Given the description of an element on the screen output the (x, y) to click on. 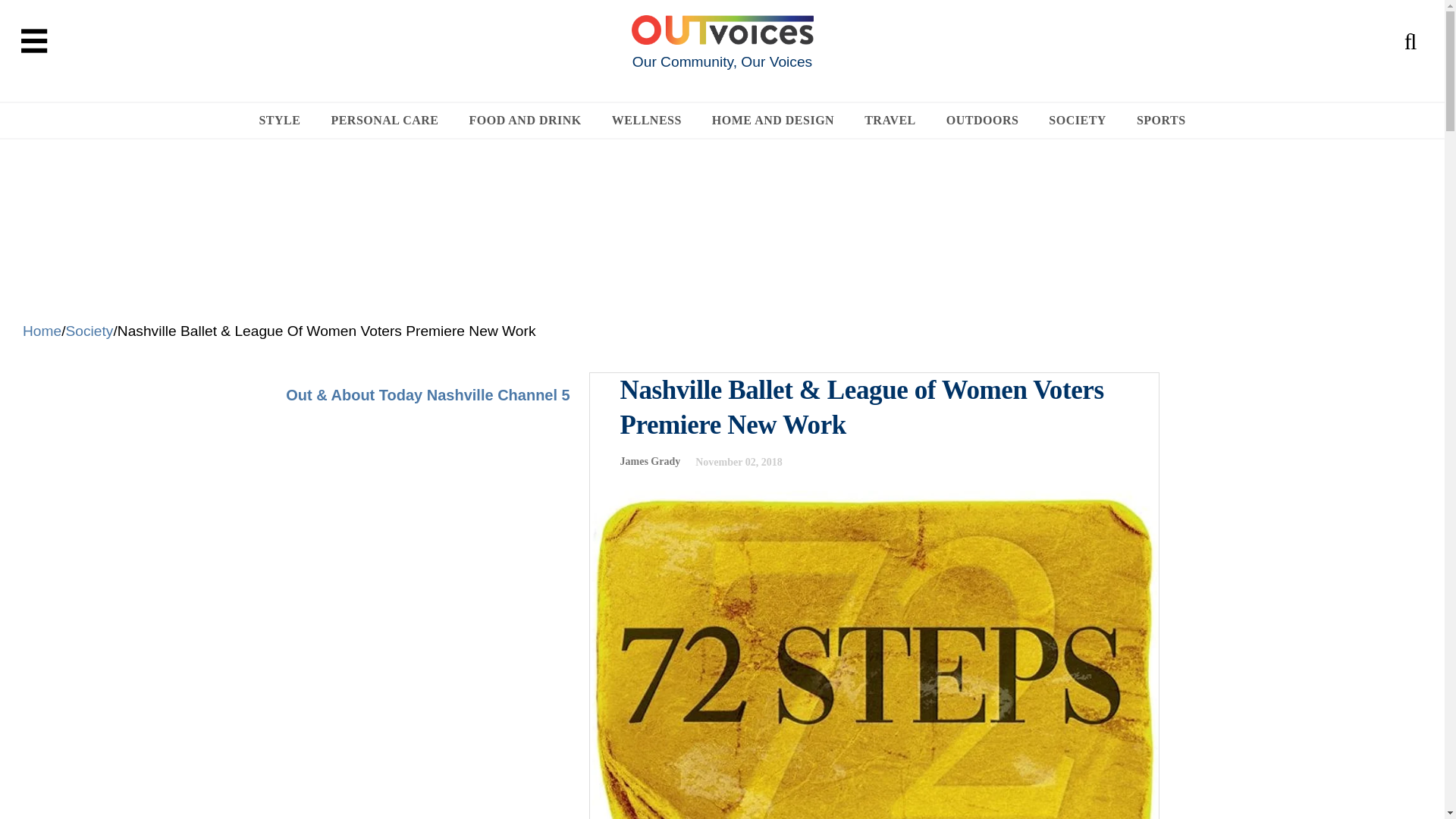
YouTube video player (427, 553)
